Given the description of an element on the screen output the (x, y) to click on. 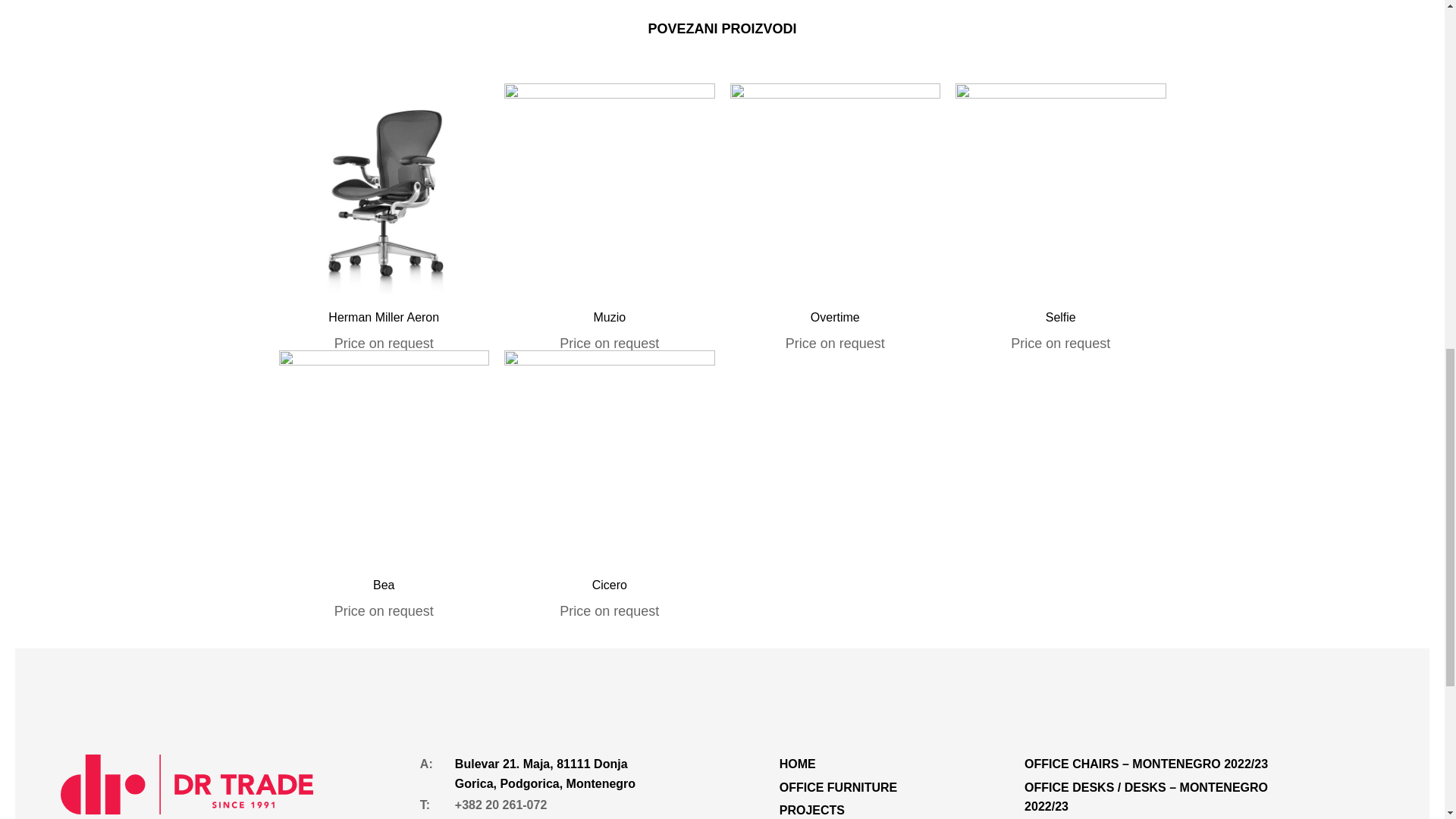
Bea (383, 585)
Muzio (609, 317)
Cicero (609, 585)
Herman Miller Aeron (384, 317)
Selfie (1060, 317)
Overtime (835, 317)
